Given the description of an element on the screen output the (x, y) to click on. 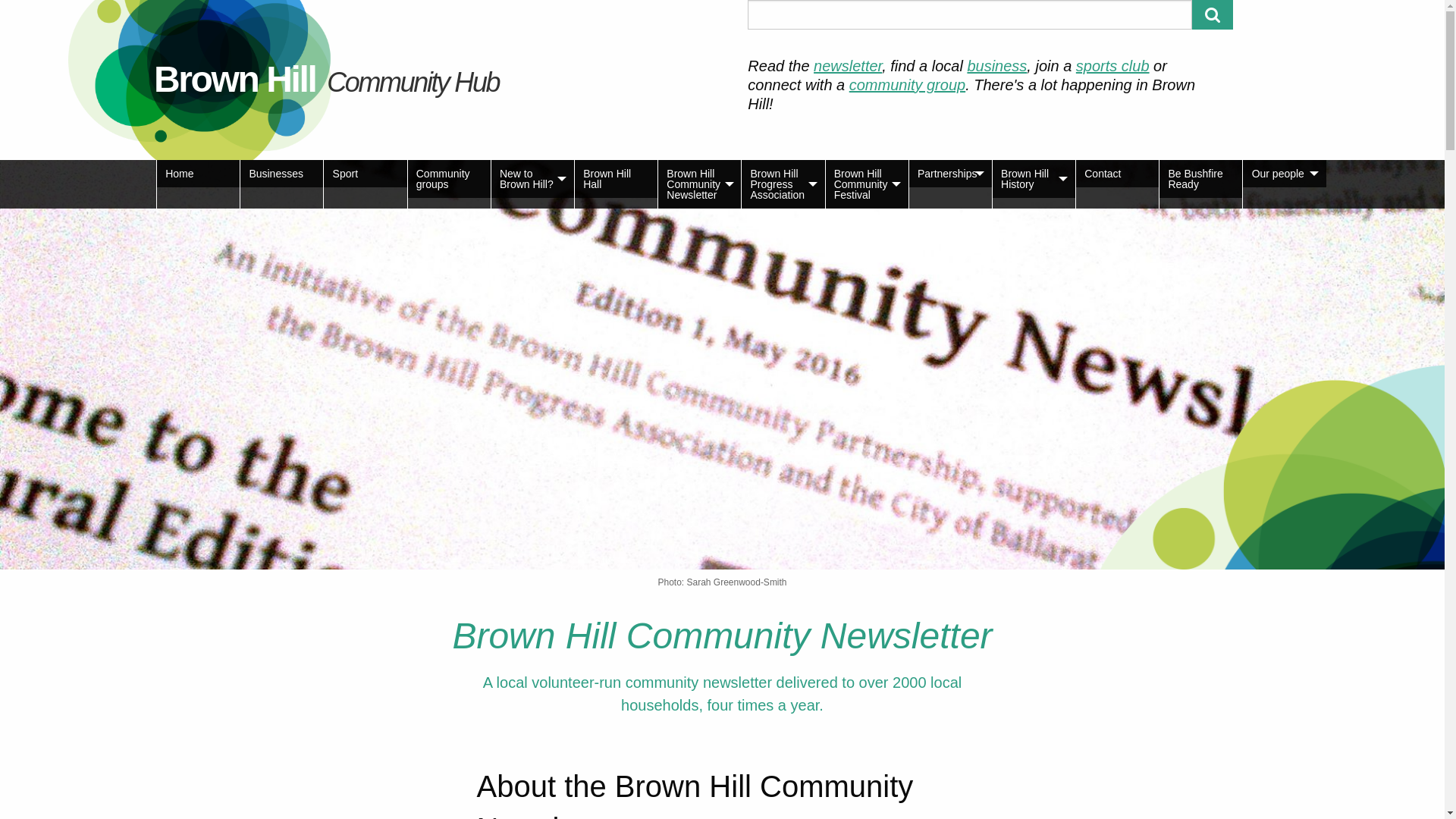
Home Element type: text (197, 173)
Brown Hill Progress Association Element type: text (782, 184)
business Element type: text (996, 65)
Partnerships Element type: text (950, 173)
Our people Element type: text (1283, 173)
Sport Element type: text (364, 173)
Brown Hill History Element type: text (1033, 178)
Be Bushfire Ready Element type: text (1200, 178)
Brown Hill Community Hub Element type: text (325, 79)
Brown Hill Community Newsletter Element type: text (699, 184)
New to Brown Hill? Element type: text (532, 178)
Brown Hill Hall Element type: text (615, 178)
community group Element type: text (907, 84)
Contact Element type: text (1117, 173)
Businesses Element type: text (281, 173)
Brown Hill Community Festival Element type: text (866, 184)
Search Element type: hover (1212, 15)
sports club Element type: text (1112, 65)
newsletter Element type: text (847, 65)
Community groups Element type: text (448, 178)
